Given the description of an element on the screen output the (x, y) to click on. 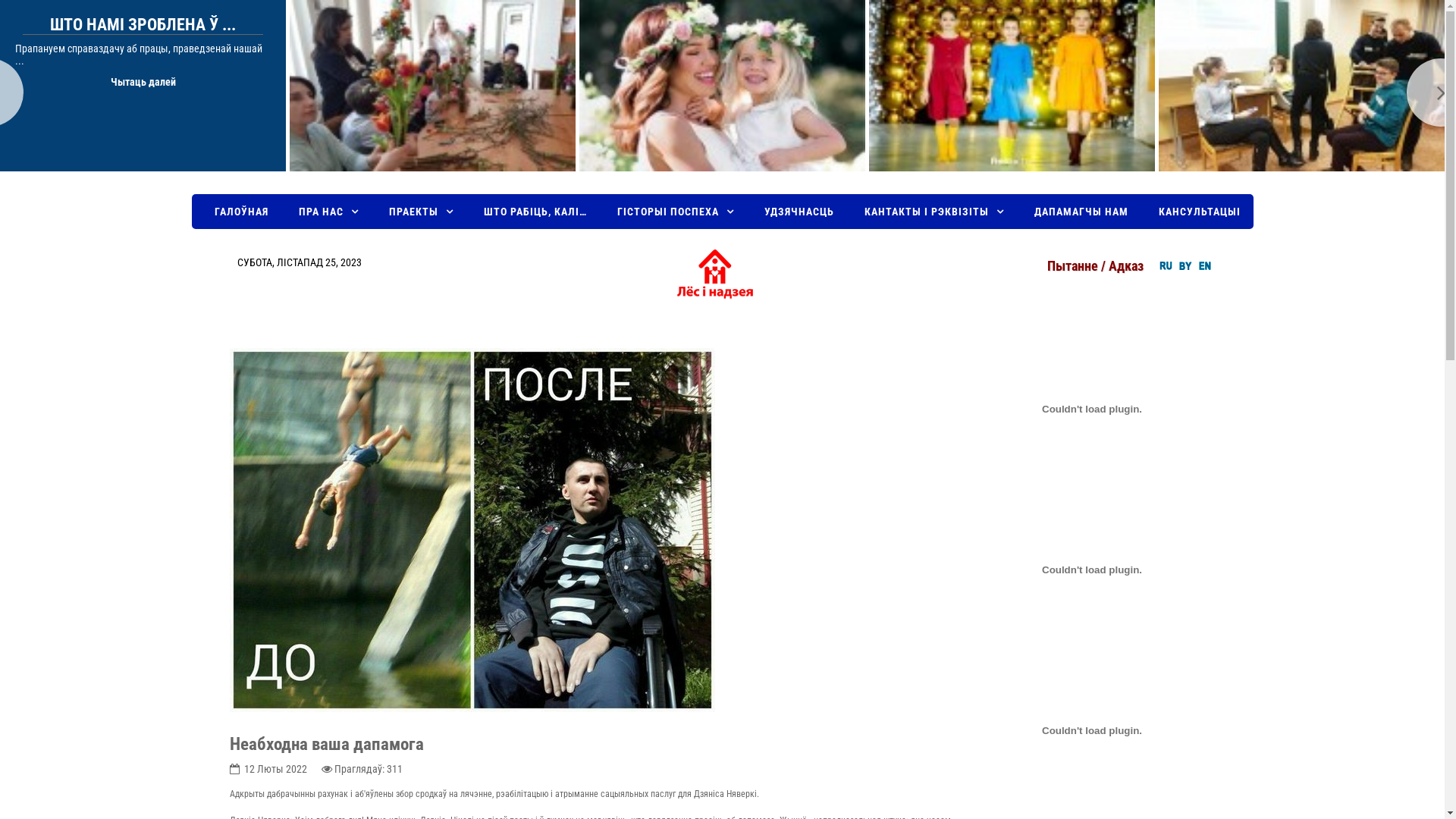
Russian (Russia) Element type: hover (1165, 264)
English (UK) Element type: hover (1204, 264)
